Given the description of an element on the screen output the (x, y) to click on. 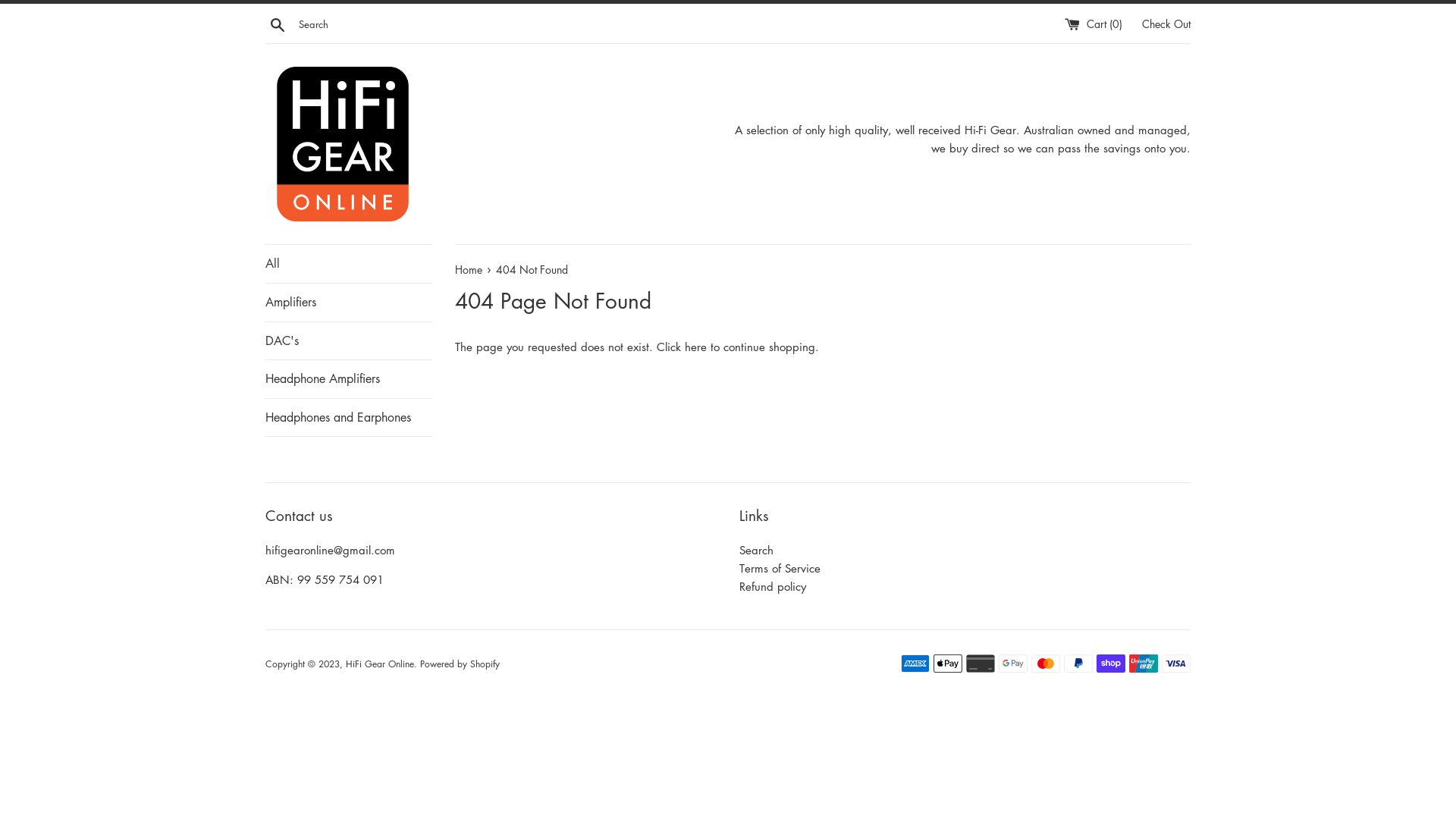
All Element type: text (348, 263)
Headphones and Earphones Element type: text (348, 417)
DAC's Element type: text (348, 341)
Home Element type: text (470, 268)
Cart (0) Element type: text (1094, 22)
Amplifiers Element type: text (348, 302)
Powered by Shopify Element type: text (459, 663)
Search Element type: text (277, 23)
Terms of Service Element type: text (779, 567)
HiFi Gear Online Element type: text (379, 663)
here Element type: text (695, 346)
Search Element type: text (756, 549)
Refund policy Element type: text (772, 585)
Check Out Element type: text (1166, 22)
Headphone Amplifiers Element type: text (348, 379)
